Given the description of an element on the screen output the (x, y) to click on. 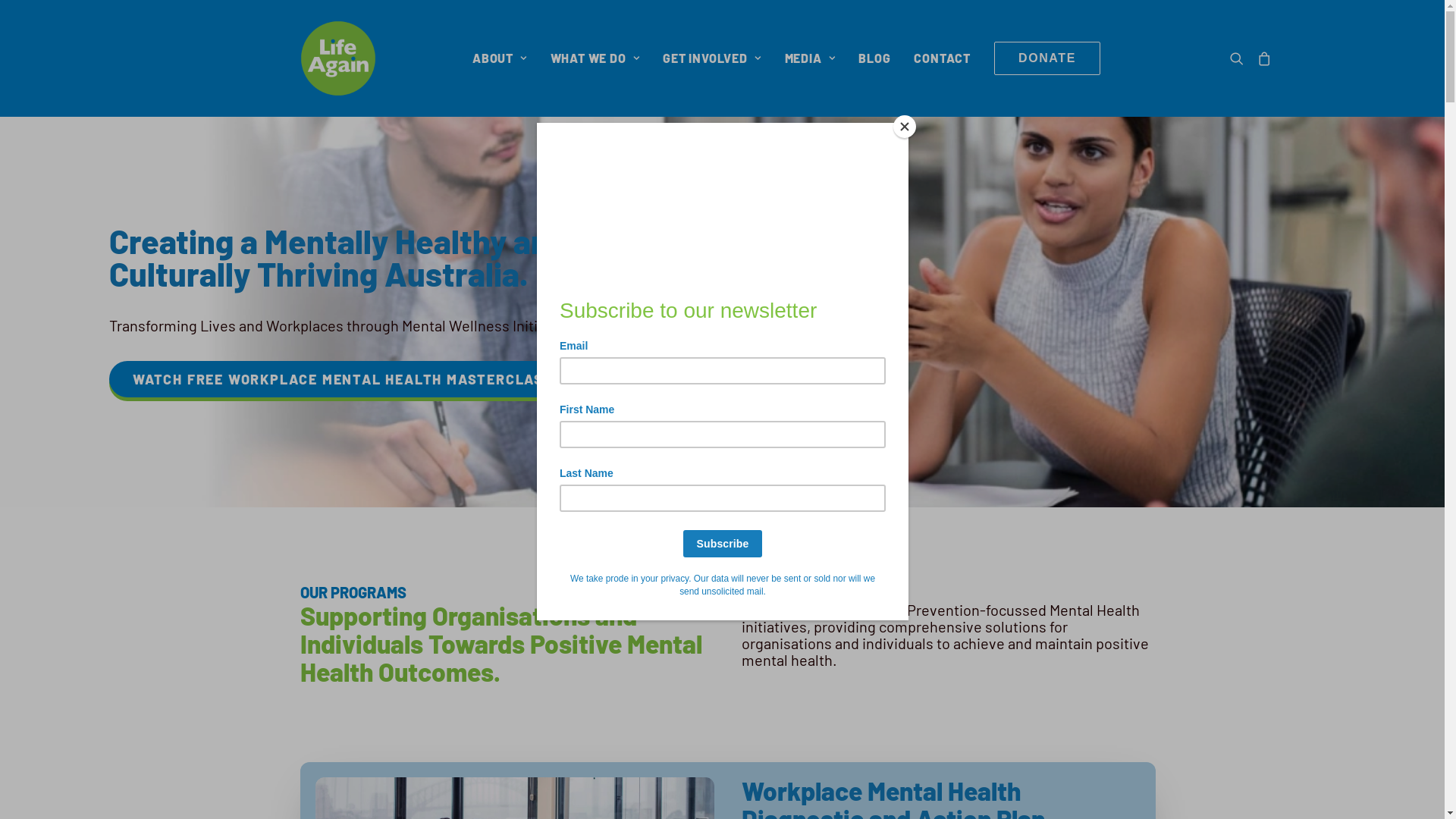
cart Element type: hover (1261, 58)
WHAT WE DO Element type: text (594, 58)
CONTACT Element type: text (942, 58)
WATCH FREE WORKPLACE MENTAL HEALTH MASTERCLASS Element type: text (343, 378)
GET INVOLVED Element type: text (711, 58)
BLOG Element type: text (873, 58)
MEDIA Element type: text (810, 58)
DONATE Element type: text (1046, 58)
ABOUT Element type: text (499, 58)
